Given the description of an element on the screen output the (x, y) to click on. 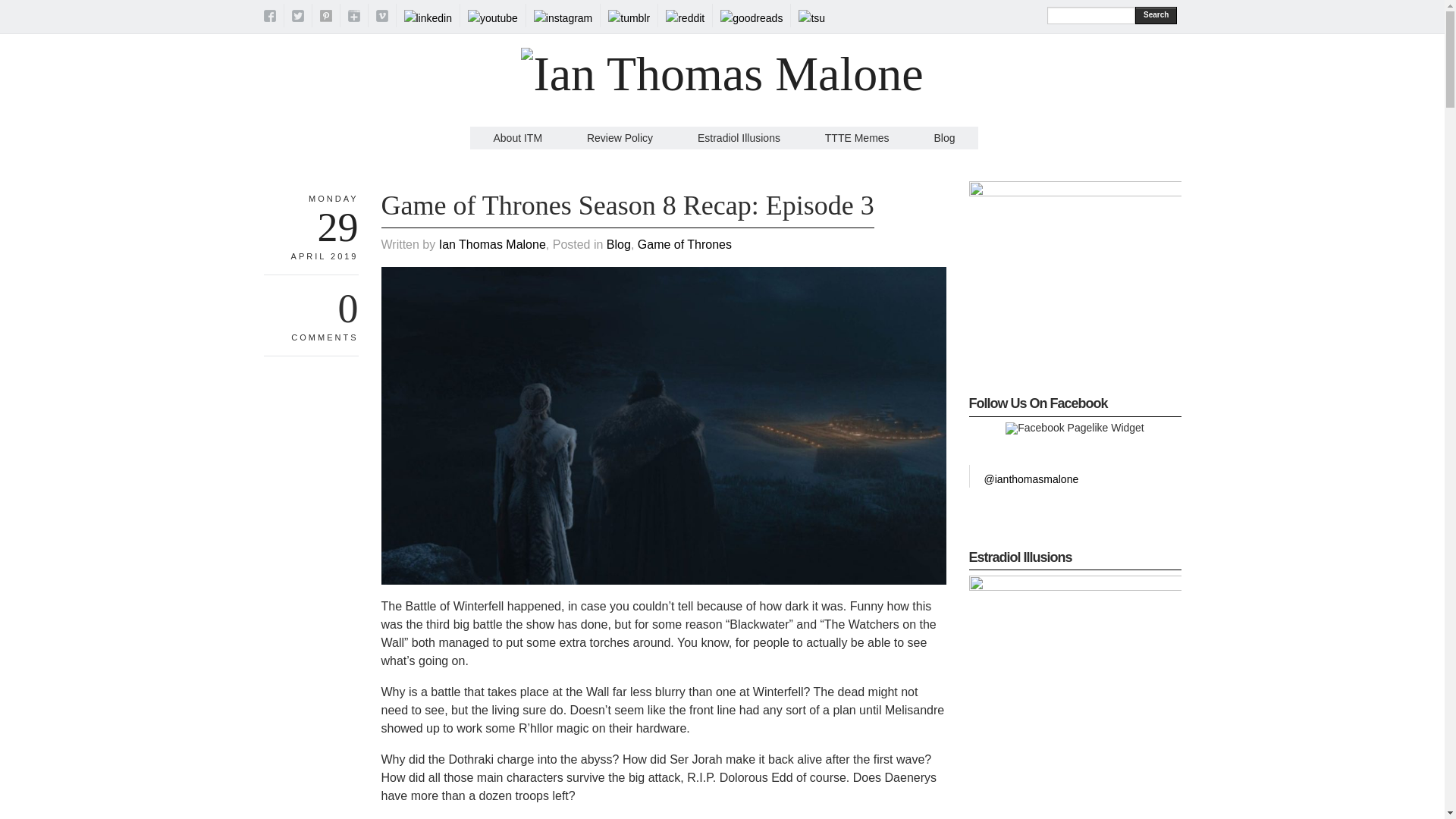
About ITM (517, 137)
instagram (563, 18)
linkedin (427, 18)
tumblr (628, 18)
TTTE Memes (857, 137)
tsu (811, 18)
Review Policy (619, 137)
pinterest (325, 18)
Estradiol Illusions (738, 137)
twitter (296, 18)
